Given the description of an element on the screen output the (x, y) to click on. 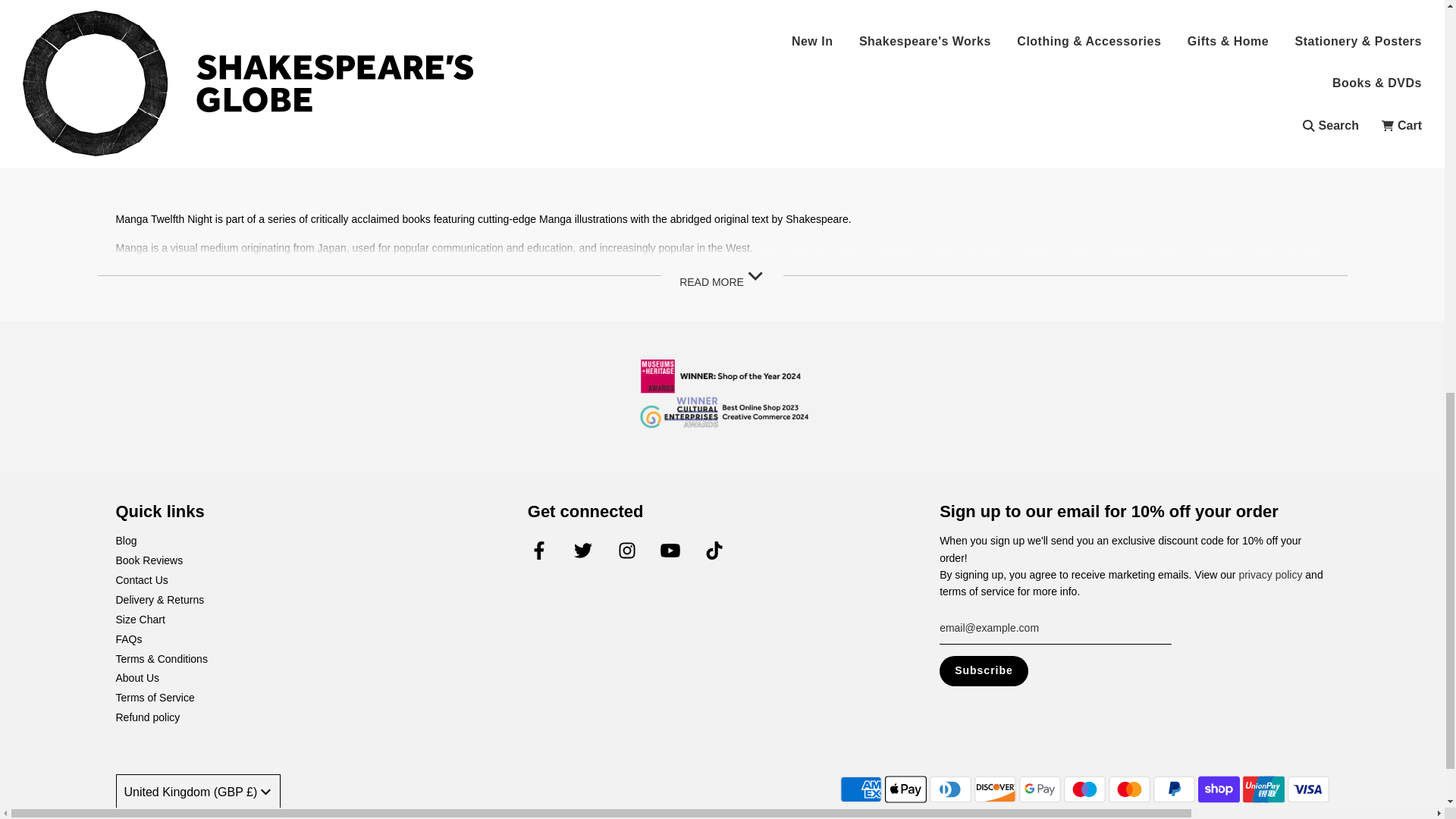
Subscribe (983, 671)
